Given the description of an element on the screen output the (x, y) to click on. 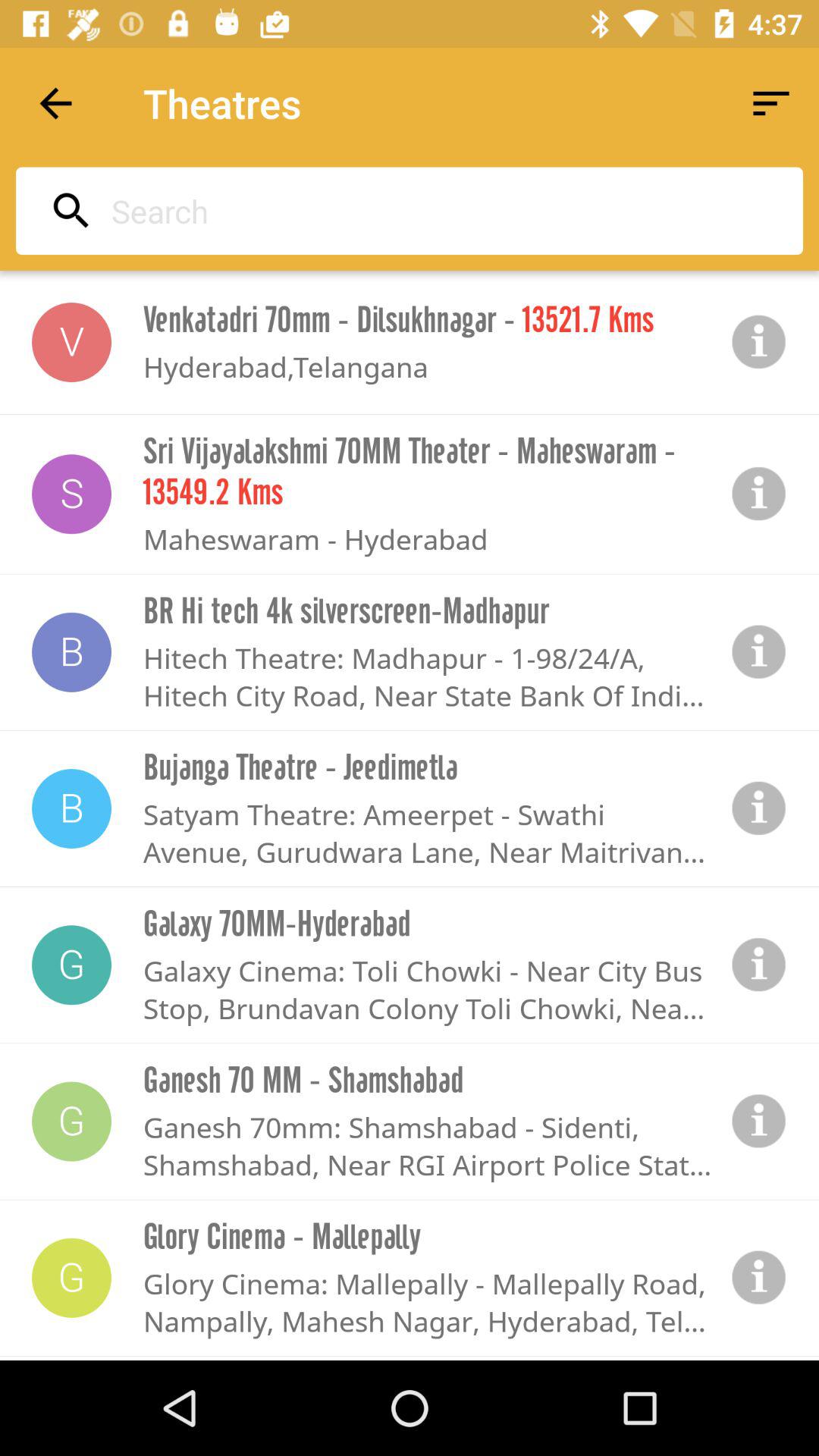
turn on the icon next to the theatres app (771, 103)
